Given the description of an element on the screen output the (x, y) to click on. 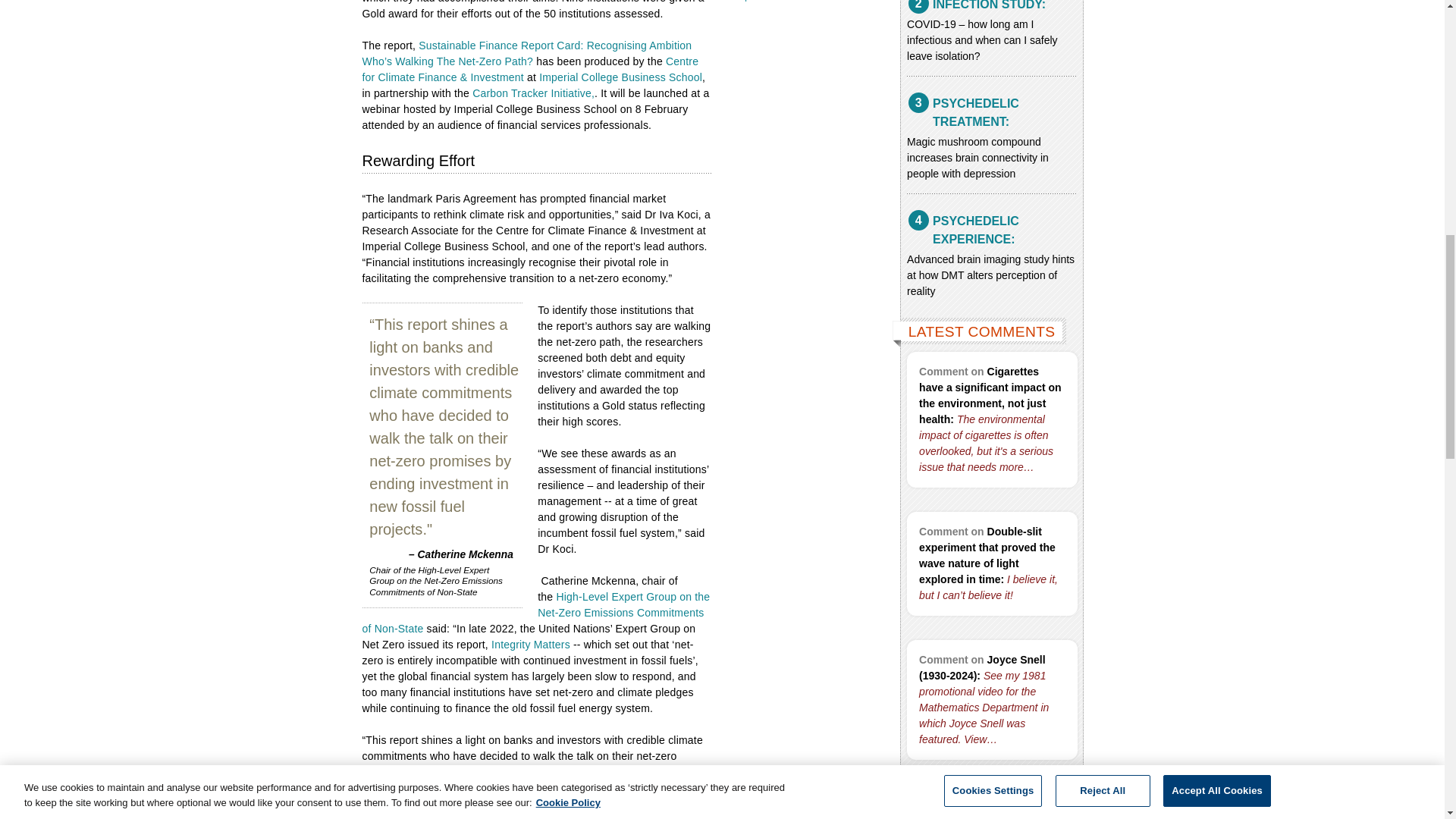
Carbon Tracker Initiative, (532, 92)
Imperial College Business School (619, 77)
Integrity Matters (531, 644)
